Given the description of an element on the screen output the (x, y) to click on. 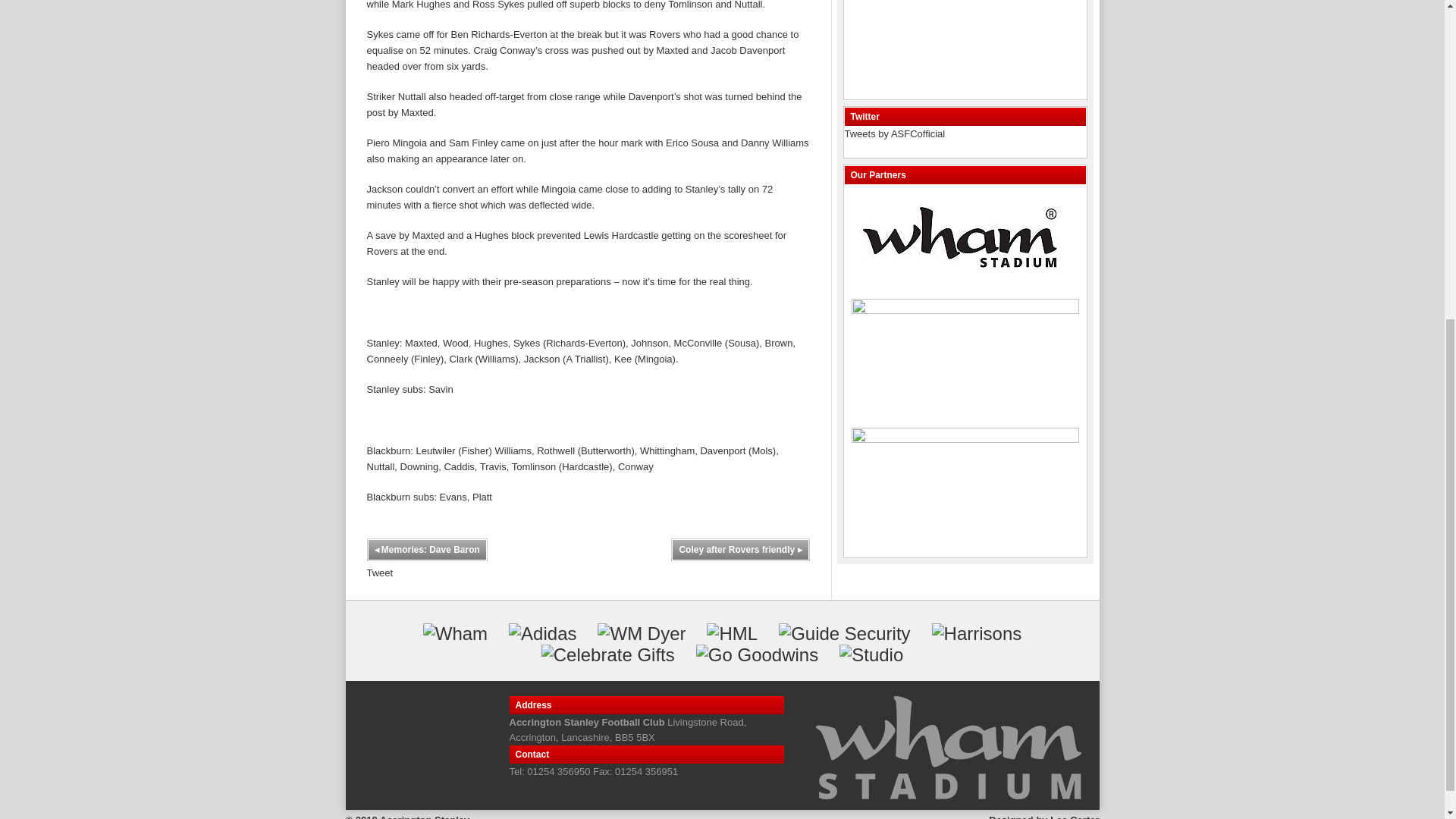
HML (731, 633)
Harrisons (976, 633)
Go Goodwins (756, 654)
Celebrate Gifts (608, 654)
Guide Security (844, 633)
Adidas (542, 633)
WM Dyer (640, 633)
Studio (871, 654)
Wham (455, 633)
